Given the description of an element on the screen output the (x, y) to click on. 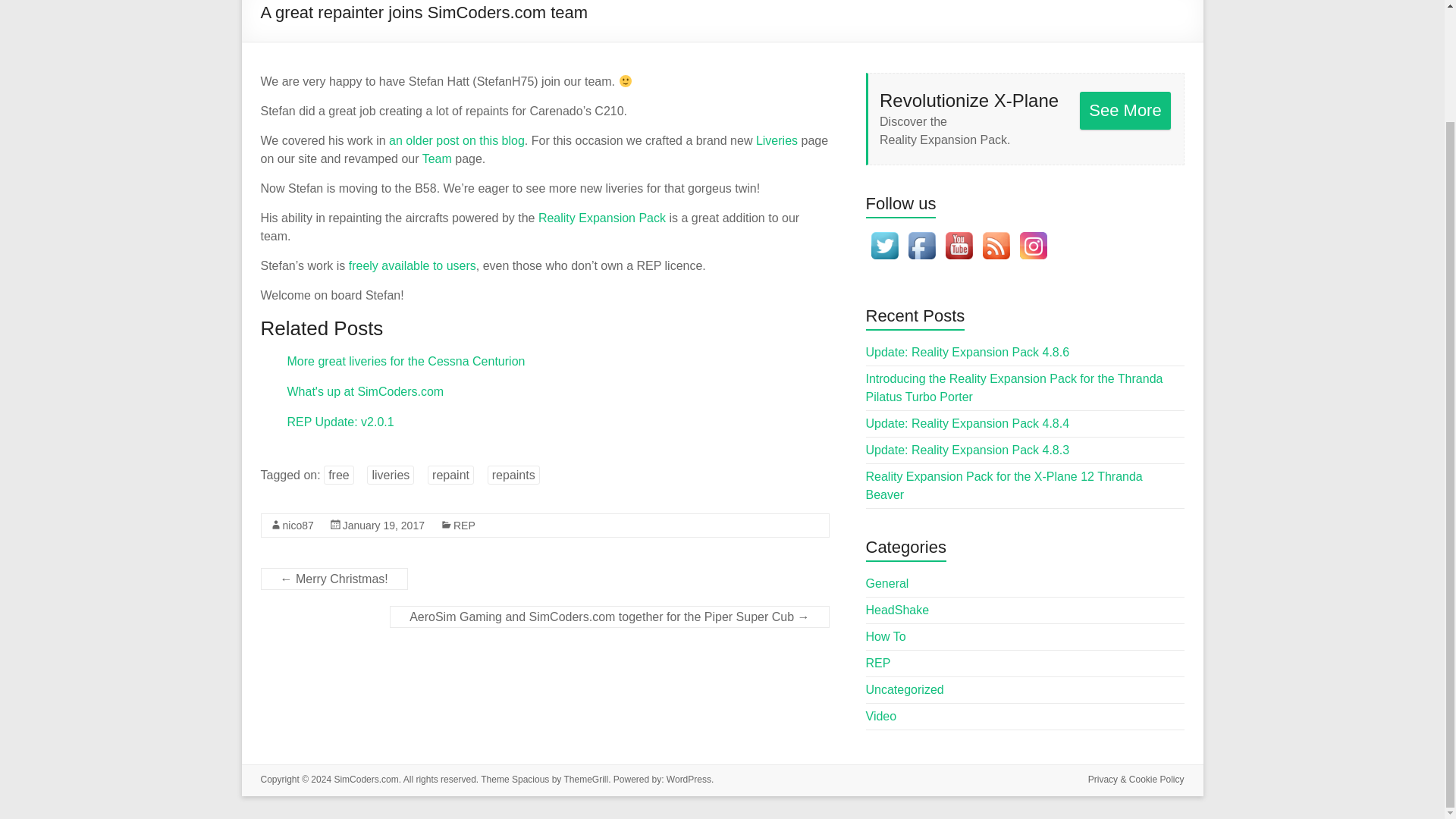
Visit Us On Facebook (920, 234)
WordPress (688, 778)
Visit Us On Youtube (958, 234)
Spacious (530, 778)
Check Our Feed (994, 234)
Visit Us On Instagram (1032, 234)
Visit Us On Twitter (884, 234)
SimCoders.com (365, 778)
See More (1126, 110)
19:00 (383, 525)
